Given the description of an element on the screen output the (x, y) to click on. 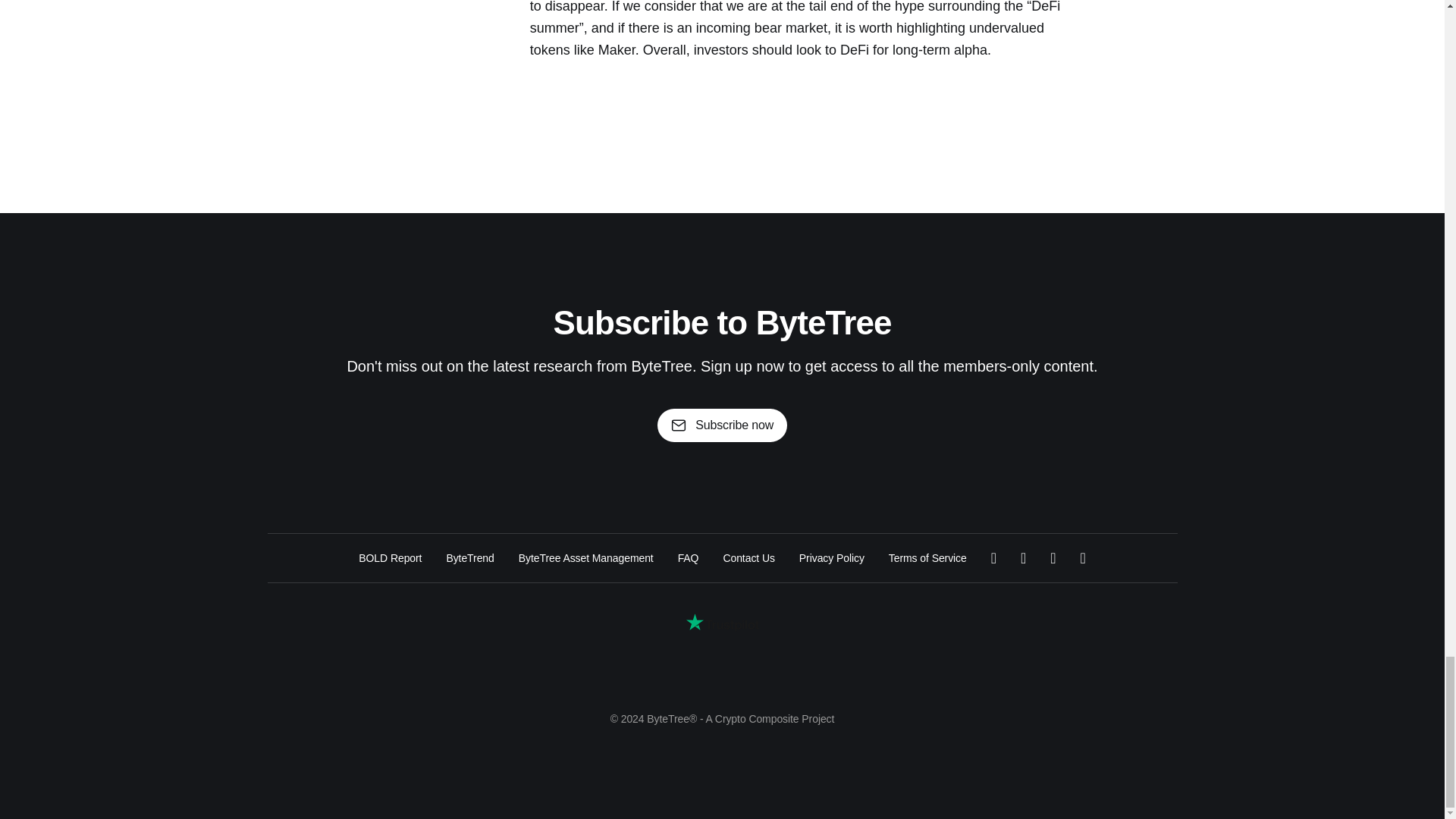
Subscribe now (722, 425)
Contact Us (748, 557)
Customer reviews powered by Trustpilot (721, 622)
Privacy Policy (831, 557)
ByteTrend (469, 557)
FAQ (688, 557)
BOLD Report (390, 557)
ByteTree Asset Management (585, 557)
Terms of Service (927, 557)
